Given the description of an element on the screen output the (x, y) to click on. 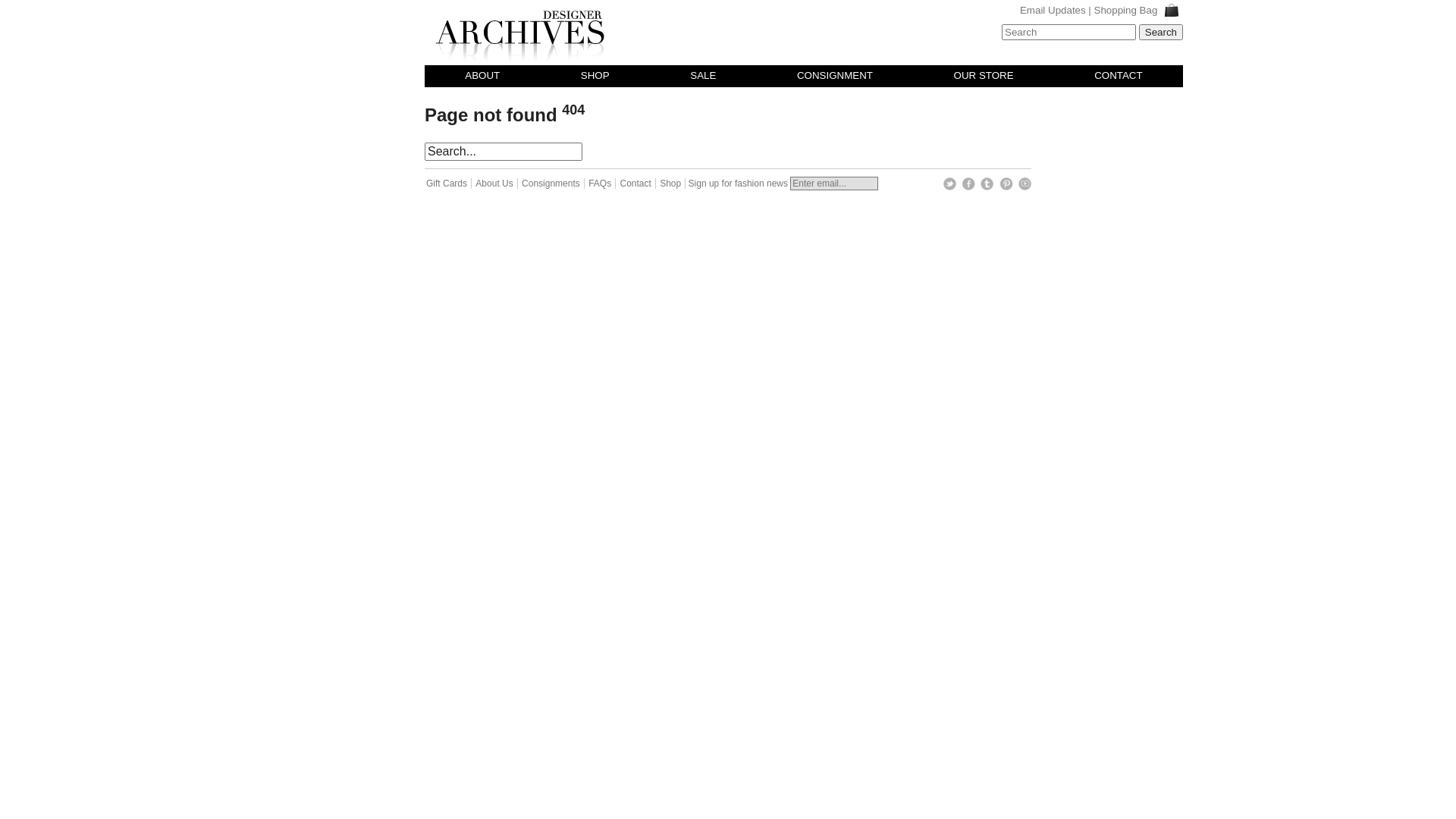
CONSIGNMENT Element type: text (834, 76)
SHOP Element type: text (594, 76)
About Us Element type: text (495, 183)
CONTACT Element type: text (1118, 76)
Consignments Element type: text (552, 183)
Shop Element type: text (671, 183)
OUR STORE Element type: text (983, 76)
SALE Element type: text (702, 76)
Contact Element type: text (636, 183)
Email Updates Element type: text (1052, 9)
Shopping Bag Element type: text (1138, 9)
Search Element type: text (1161, 32)
Gift Cards Element type: text (447, 183)
FAQs Element type: text (600, 183)
ABOUT Element type: text (481, 76)
